Given the description of an element on the screen output the (x, y) to click on. 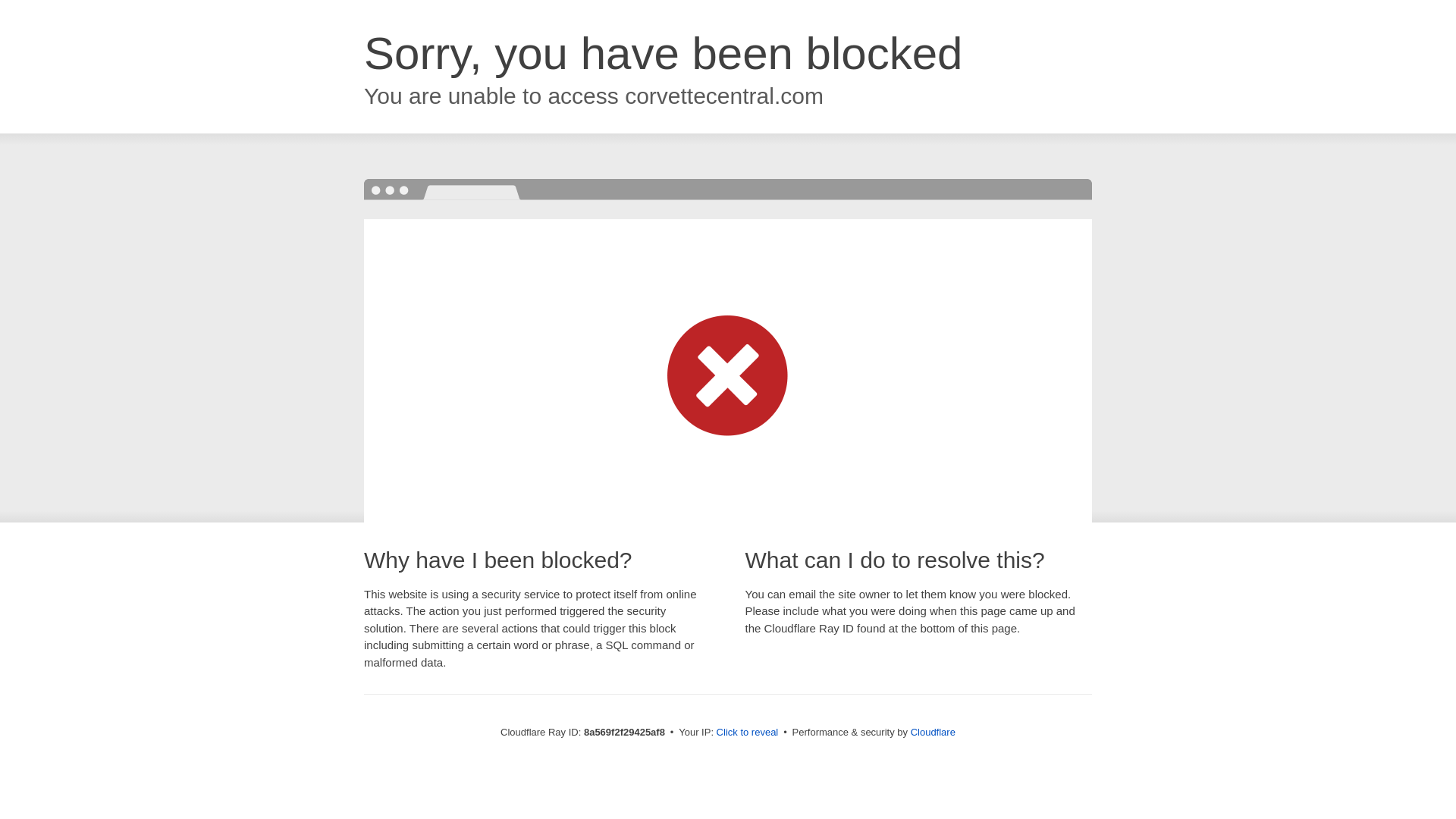
Click to reveal (747, 732)
Cloudflare (933, 731)
